Given the description of an element on the screen output the (x, y) to click on. 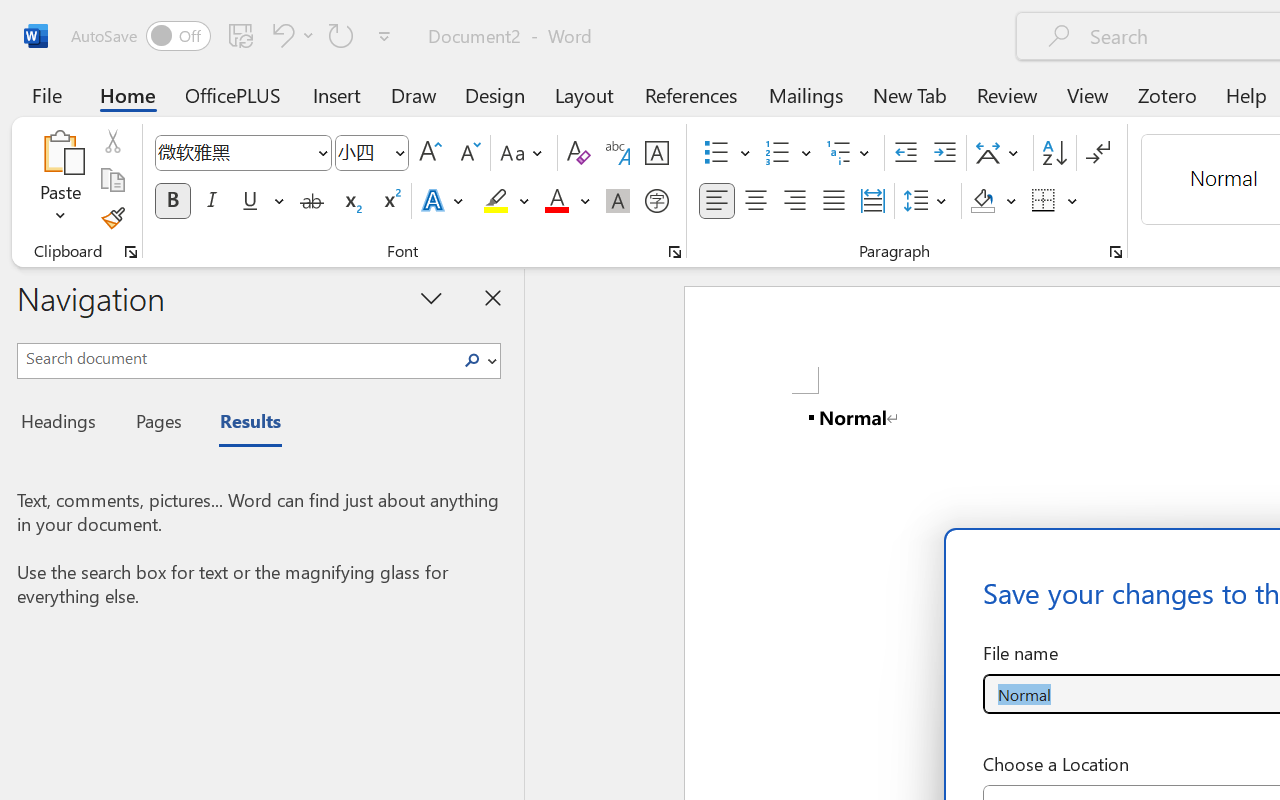
Cut (112, 141)
Class: NetUIImage (471, 360)
Center (756, 201)
Shrink Font (468, 153)
AutoSave (140, 35)
Customize Quick Access Toolbar (384, 35)
Font Size (362, 152)
OfficePLUS (233, 94)
Search document (236, 358)
Zotero (1166, 94)
